Given the description of an element on the screen output the (x, y) to click on. 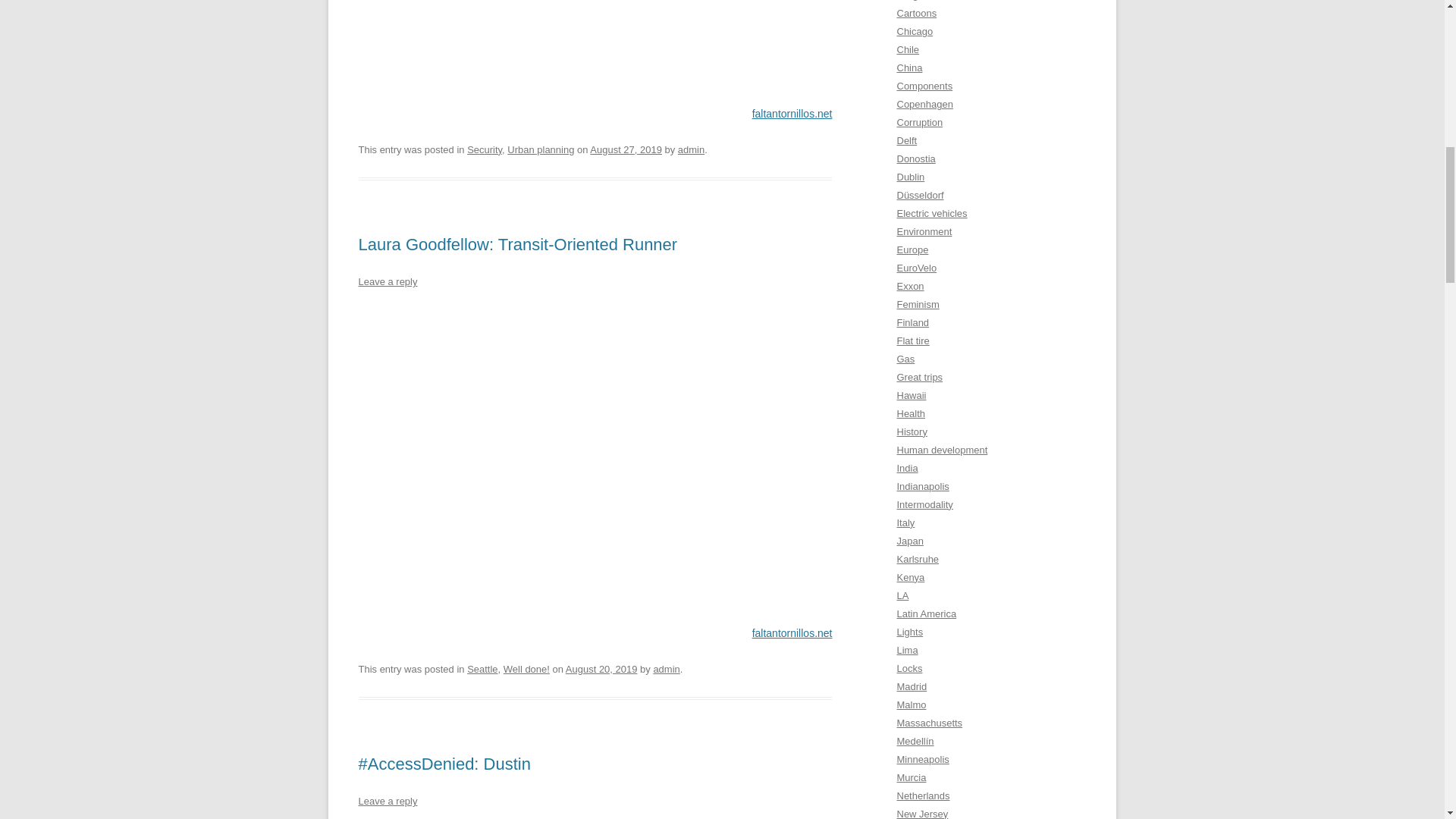
Security (484, 149)
admin (691, 149)
Laura Goodfellow: Transit-Oriented Runner (517, 244)
faltantornillos.net (792, 633)
Leave a reply (387, 281)
Well done! (526, 668)
Urban planning (539, 149)
12:00 am (601, 668)
View all posts by admin (665, 668)
faltantornillos.net (792, 113)
View all posts by admin (691, 149)
August 27, 2019 (625, 149)
August 20, 2019 (601, 668)
Seattle (482, 668)
Leave a reply (387, 800)
